Given the description of an element on the screen output the (x, y) to click on. 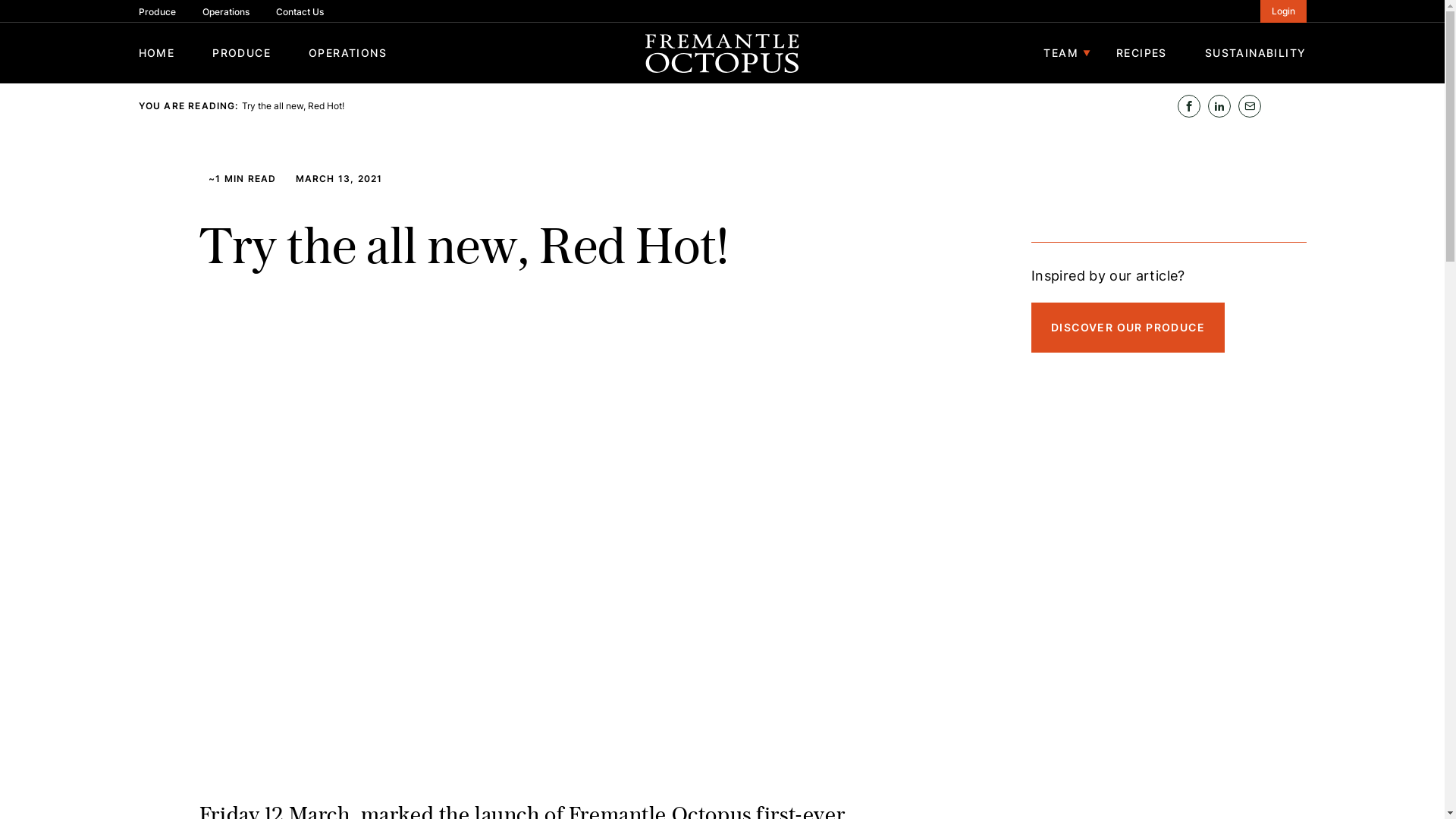
OPERATIONS Element type: text (347, 52)
Share on Email Element type: hover (1248, 105)
Contact Us Element type: text (299, 11)
HOME Element type: text (156, 52)
Share on Facebook Element type: hover (1187, 105)
SUSTAINABILITY Element type: text (1255, 52)
Share on Linkedin Element type: hover (1218, 105)
Operations Element type: text (224, 11)
TEAM Element type: text (1060, 52)
Produce Element type: text (156, 11)
DISCOVER OUR PRODUCE Element type: text (1127, 327)
Login Element type: text (1283, 11)
RECIPES Element type: text (1141, 52)
PRODUCE Element type: text (241, 52)
